Given the description of an element on the screen output the (x, y) to click on. 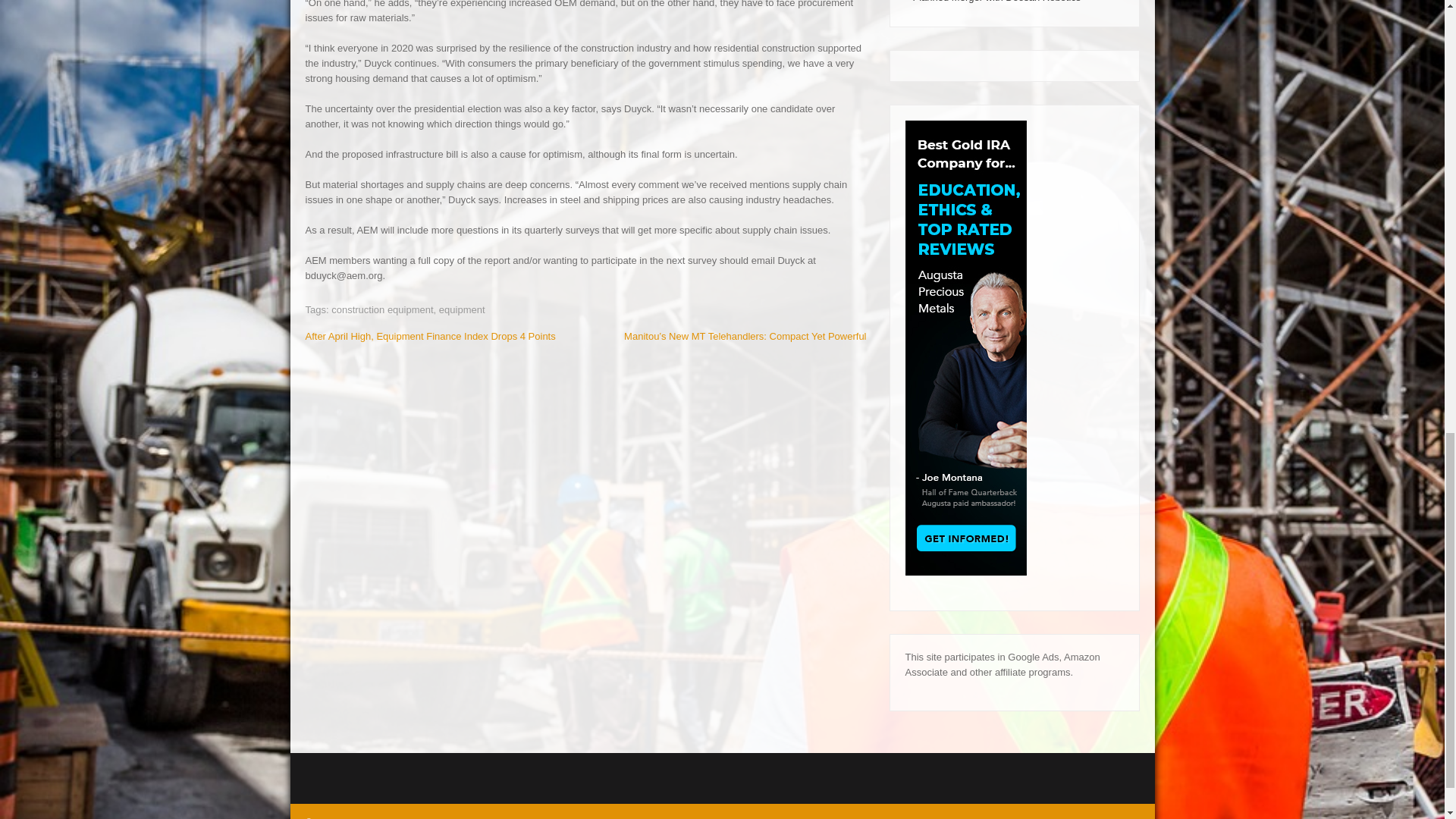
equipment (461, 309)
construction equipment (381, 309)
After April High, Equipment Finance Index Drops 4 Points (429, 336)
